Given the description of an element on the screen output the (x, y) to click on. 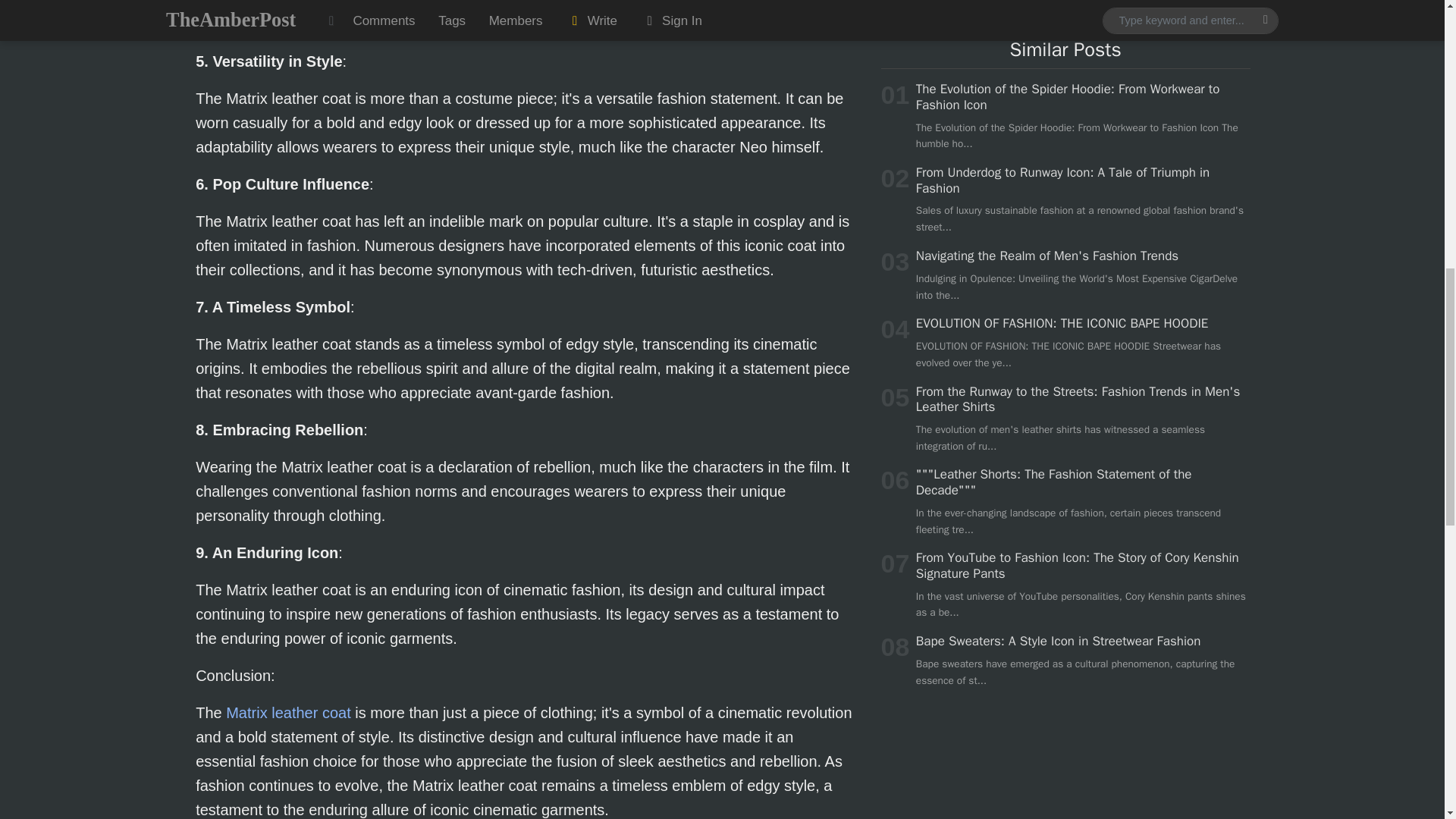
Matrix leather coat (287, 712)
